Given the description of an element on the screen output the (x, y) to click on. 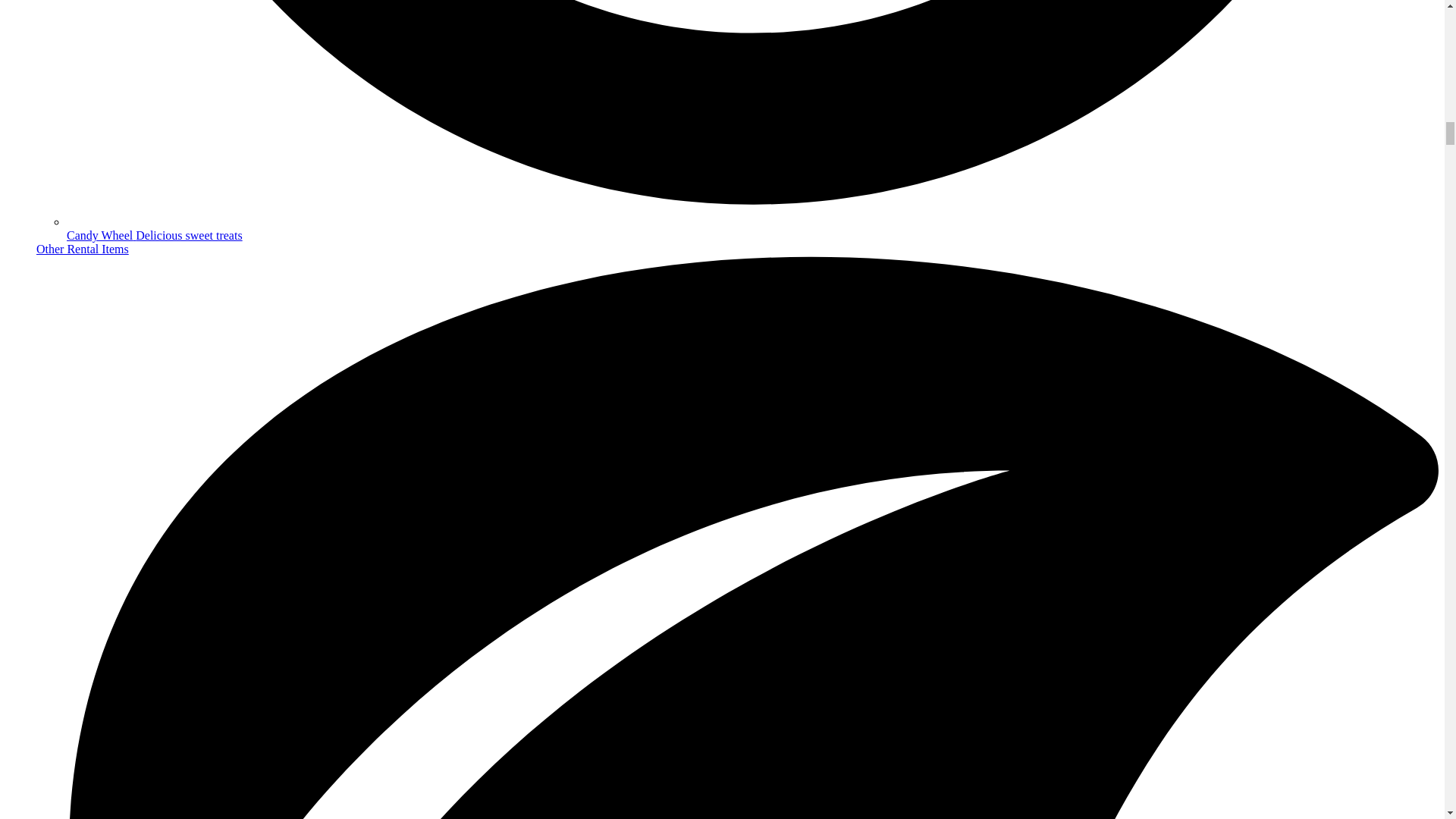
Other Rental Items (82, 248)
